Given the description of an element on the screen output the (x, y) to click on. 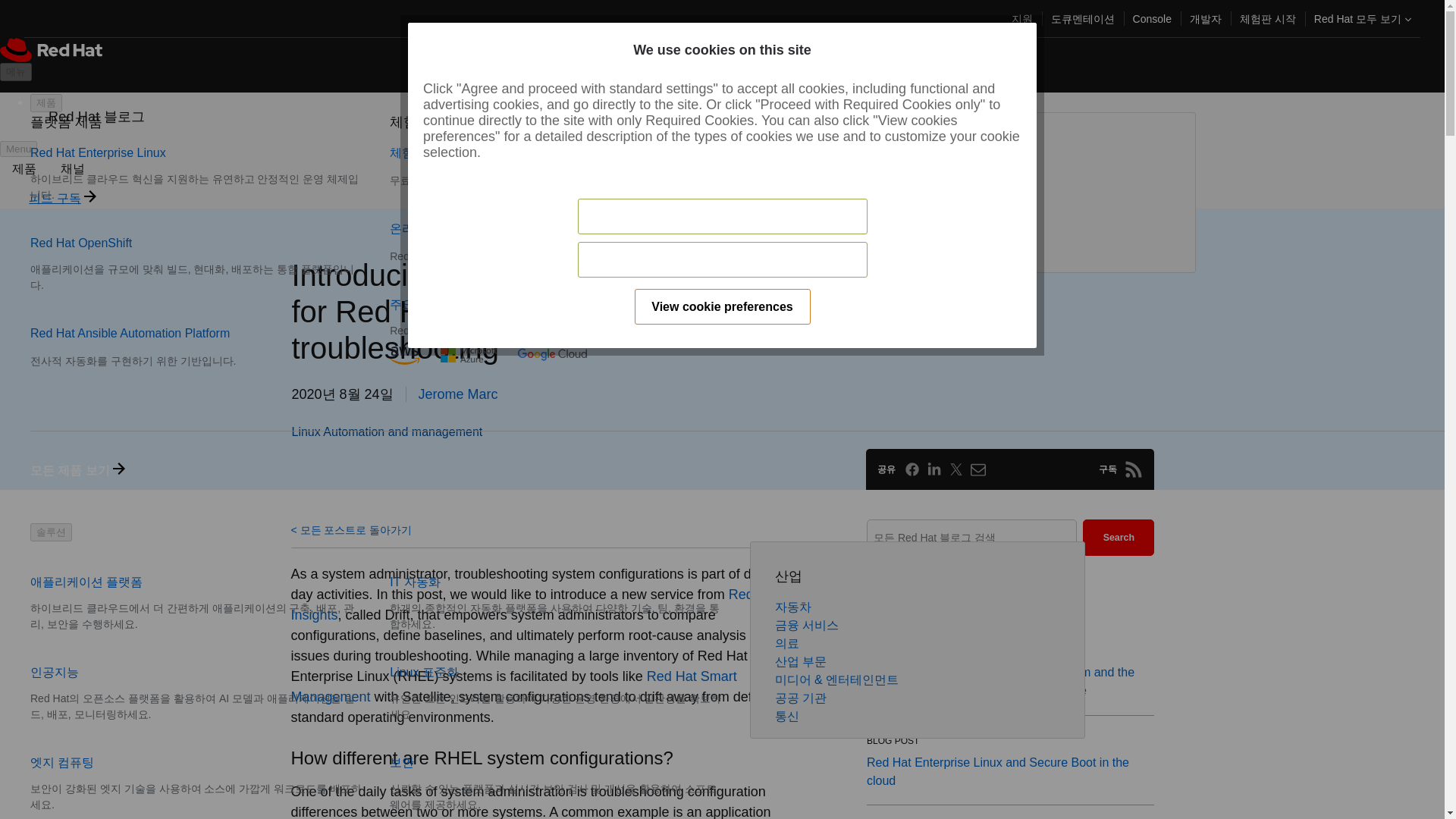
See more by Jerome Marc (458, 394)
Console (1152, 18)
